Given the description of an element on the screen output the (x, y) to click on. 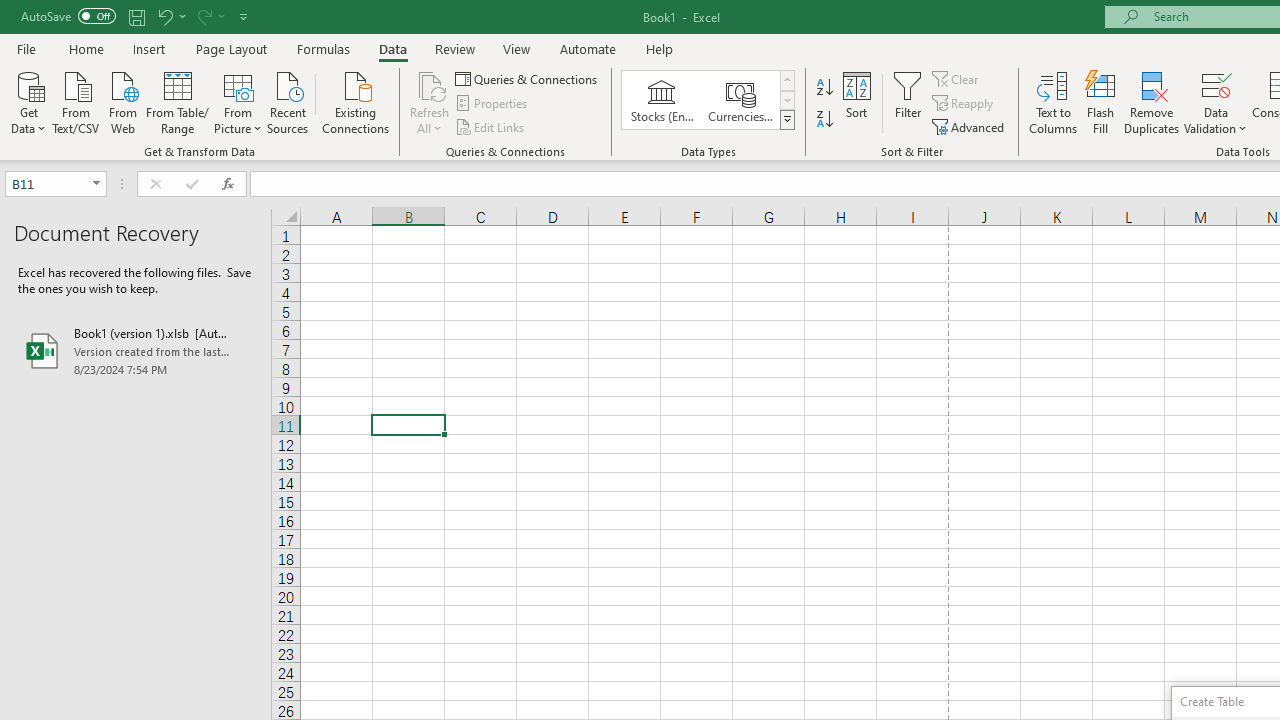
Advanced... (970, 126)
Class: NetUIImage (787, 119)
Clear (957, 78)
More Options (1215, 121)
From Picture (238, 101)
Undo (164, 15)
Reapply (964, 103)
Stocks (English) (662, 100)
Save (136, 15)
Flash Fill (1101, 102)
Review (454, 48)
Name Box (56, 183)
Formulas (323, 48)
Name Box (46, 183)
